Given the description of an element on the screen output the (x, y) to click on. 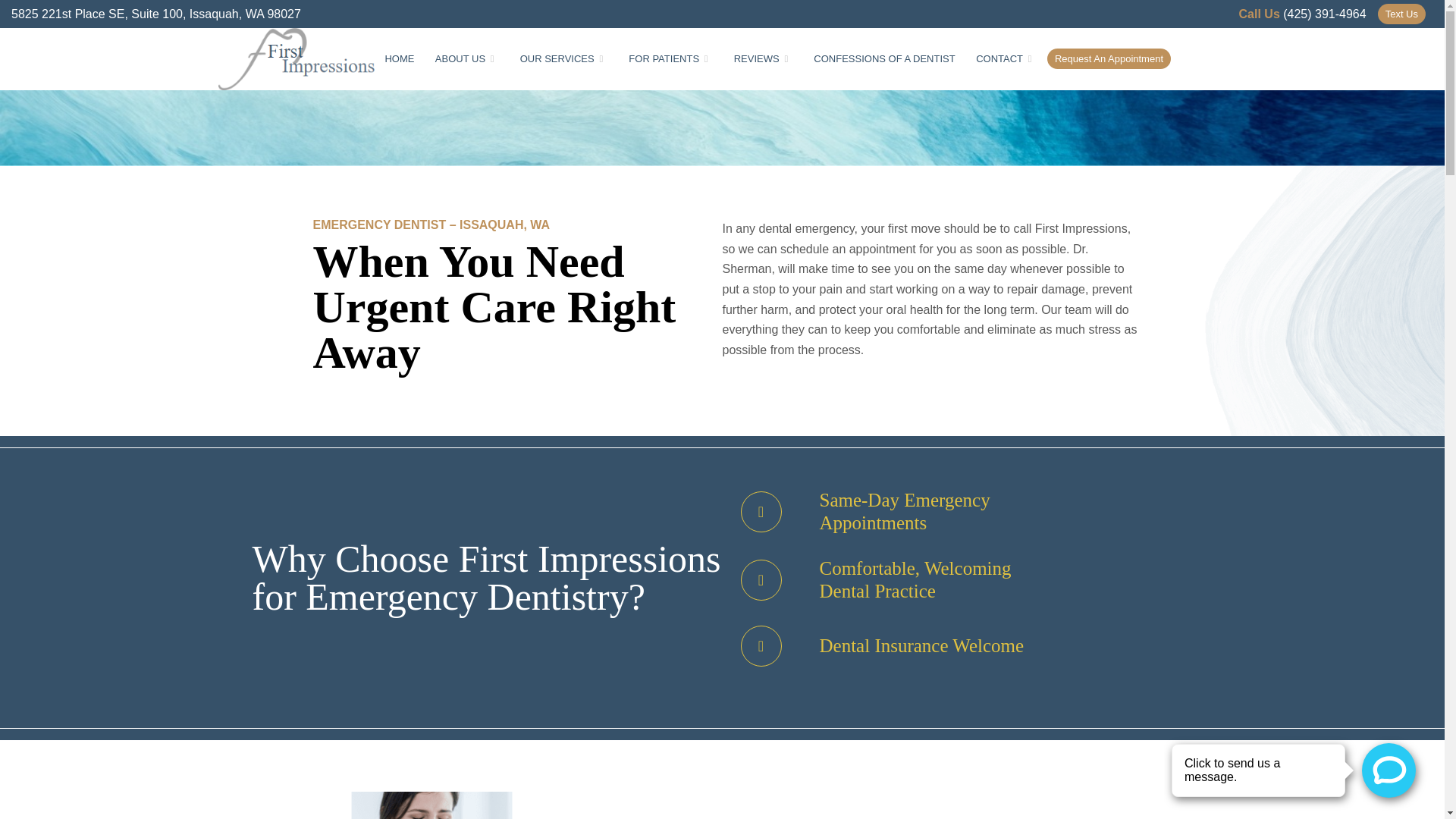
Text Us (1401, 14)
FOR PATIENTS (670, 58)
5825 221st Place SE, Suite 100, Issaquah, WA 98027 (156, 13)
ABOUT US (467, 58)
OUR SERVICES (563, 58)
HOME (399, 58)
Your Issaquah Dentist, Dr. Ron Sherman (399, 58)
